Given the description of an element on the screen output the (x, y) to click on. 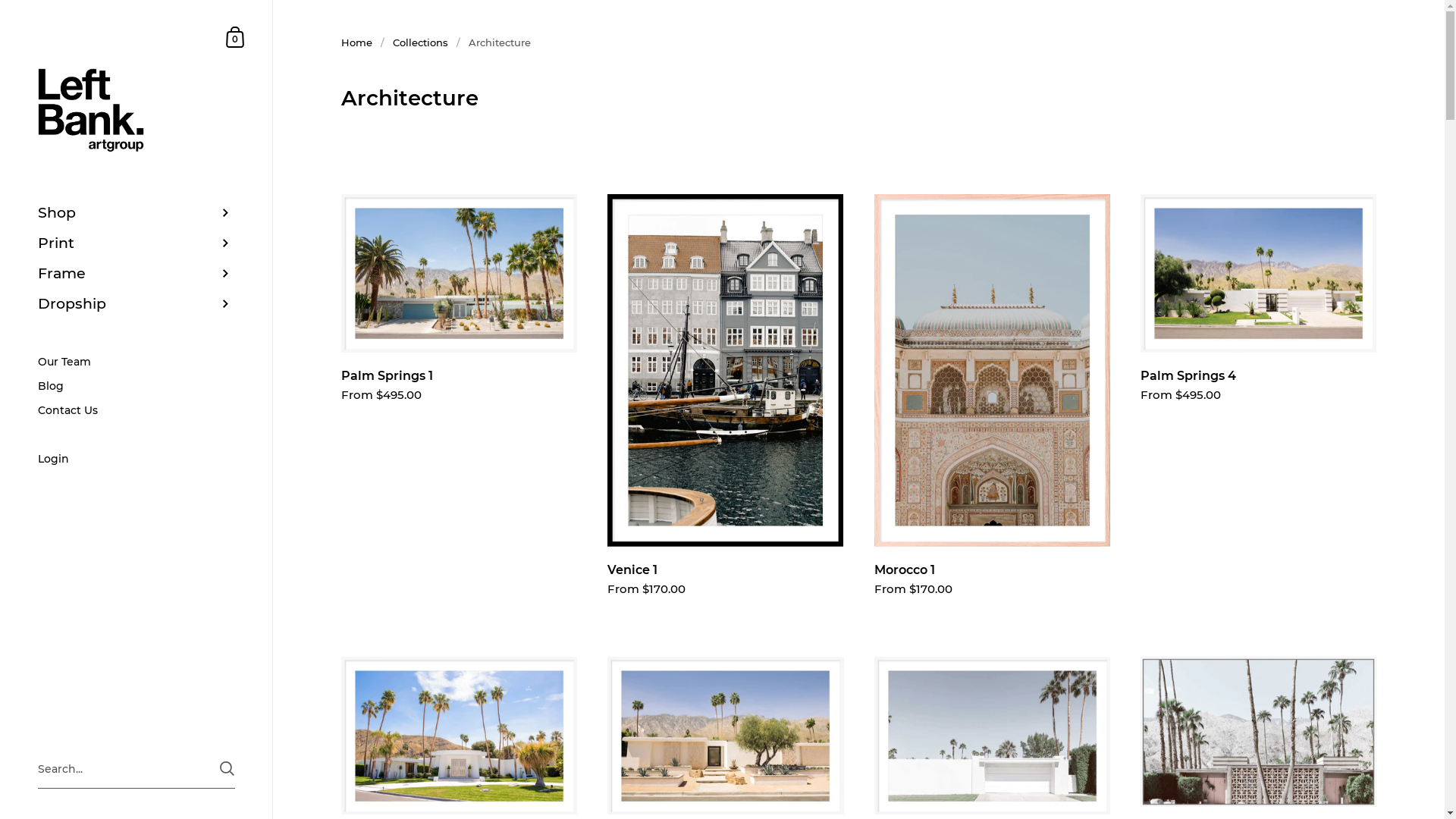
Venice 1
From $170.00 Element type: text (725, 410)
Dropship Element type: text (136, 303)
Our Team Element type: text (136, 361)
Collections Element type: text (420, 42)
Frame Element type: text (136, 273)
Skip to content Element type: text (0, 0)
Print Element type: text (136, 243)
Login Element type: text (136, 459)
Contact Us Element type: text (136, 410)
Shopping Cart
0 Element type: text (235, 36)
Home Element type: text (356, 42)
Shop Element type: text (136, 212)
Blog Element type: text (136, 385)
Palm Springs 4
From $495.00 Element type: text (1258, 313)
Palm Springs 1
From $495.00 Element type: text (459, 313)
Morocco 1
From $170.00 Element type: text (991, 410)
